Given the description of an element on the screen output the (x, y) to click on. 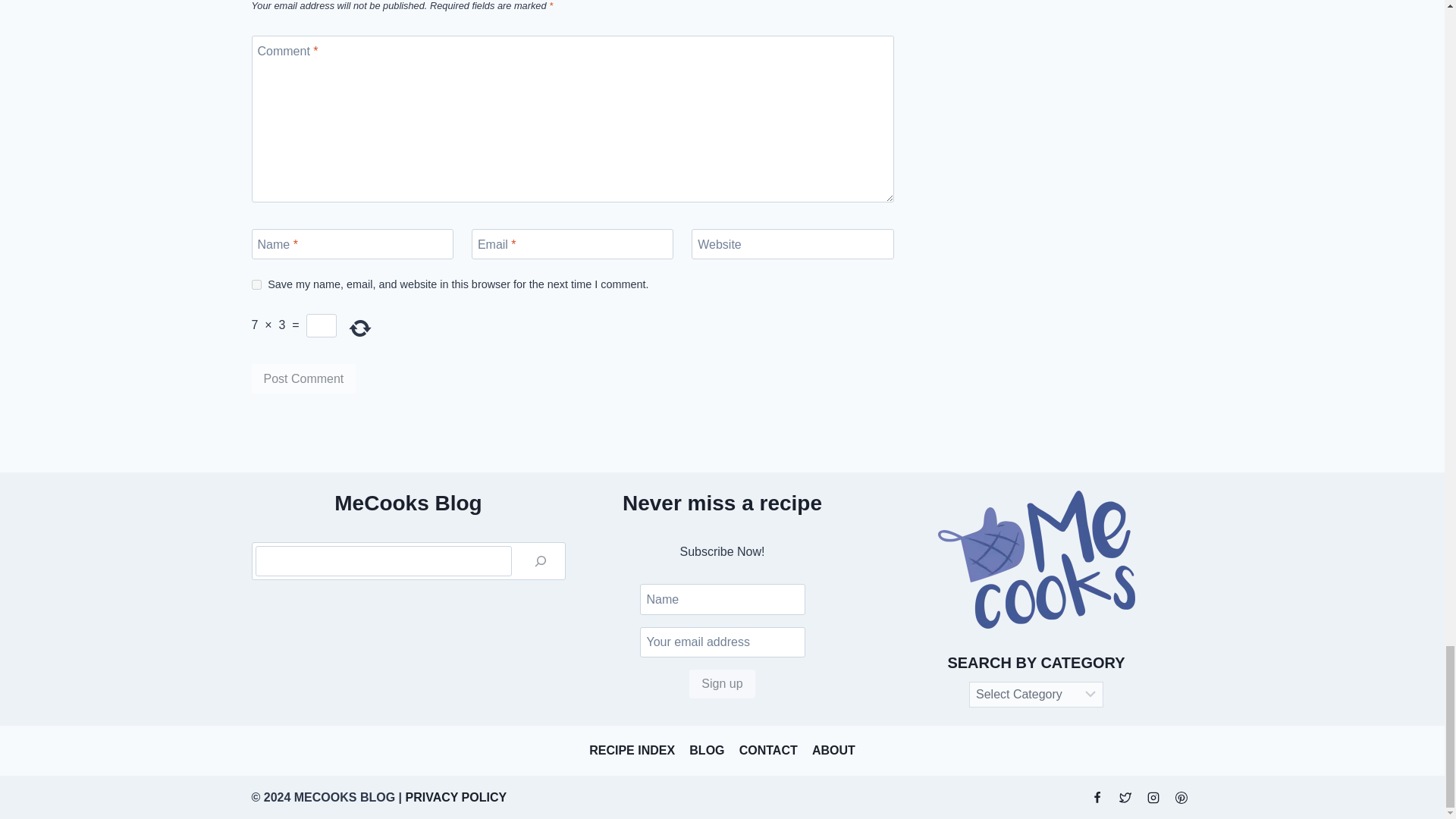
Post Comment (303, 378)
yes (256, 284)
Sign up (721, 683)
